Given the description of an element on the screen output the (x, y) to click on. 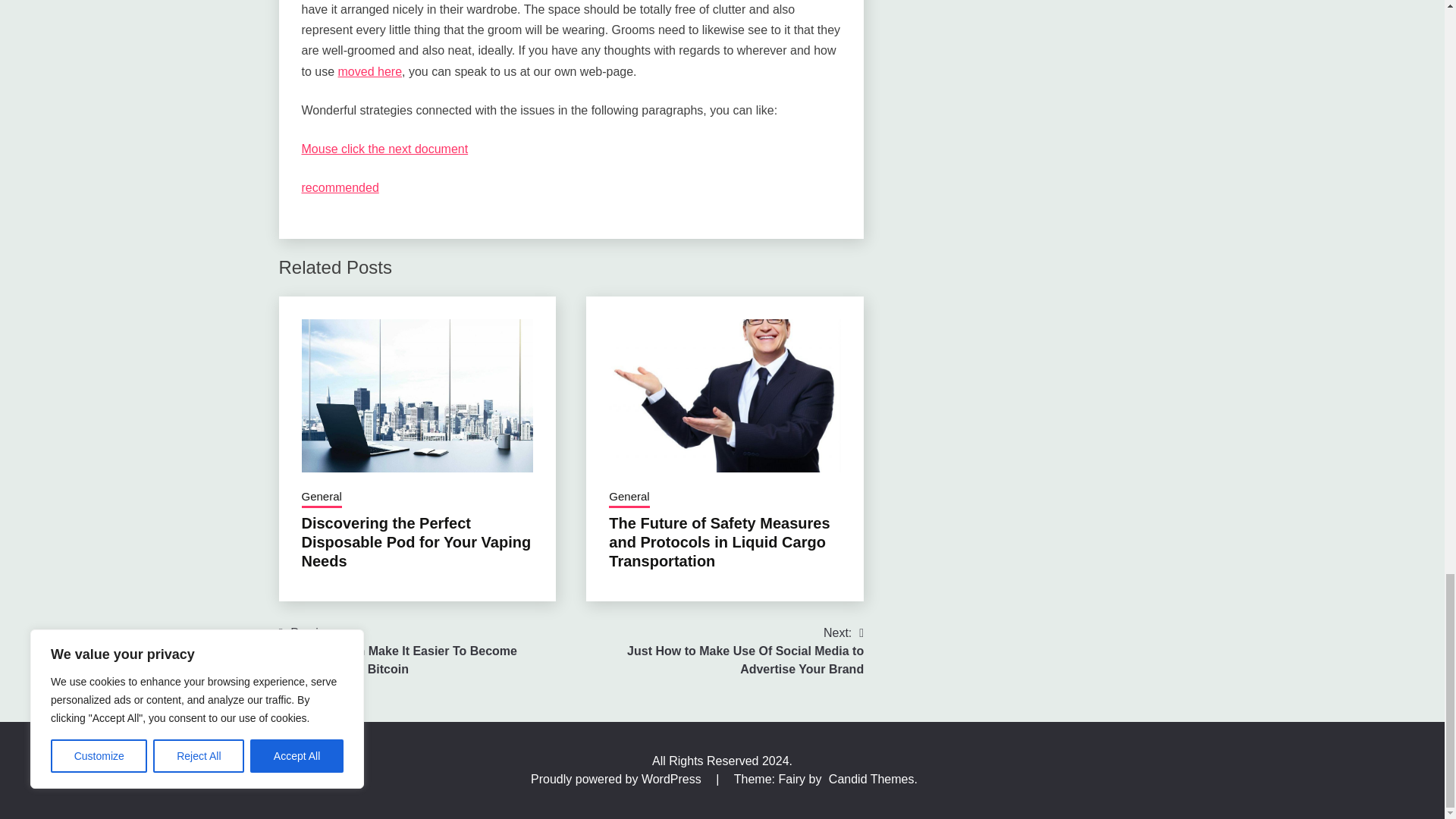
Discovering the Perfect Disposable Pod for Your Vaping Needs (416, 542)
recommended (339, 187)
moved here (370, 71)
Mouse click the next document (384, 148)
General (321, 497)
